Given the description of an element on the screen output the (x, y) to click on. 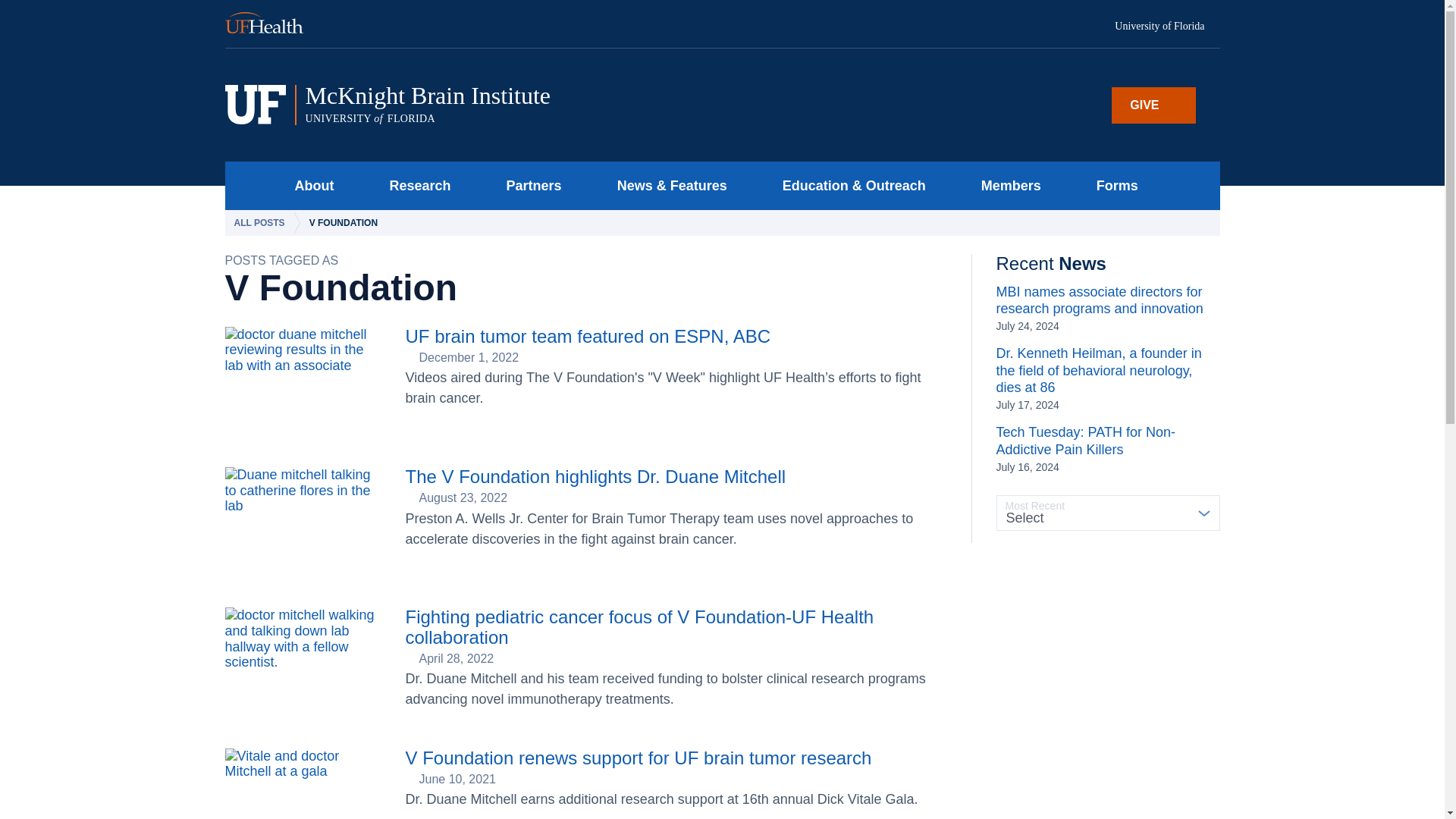
About (309, 185)
GIVE (1153, 104)
Research (415, 185)
University of Florida (1167, 26)
Partners (528, 185)
UF Health (272, 24)
Skip to main content (515, 105)
